Given the description of an element on the screen output the (x, y) to click on. 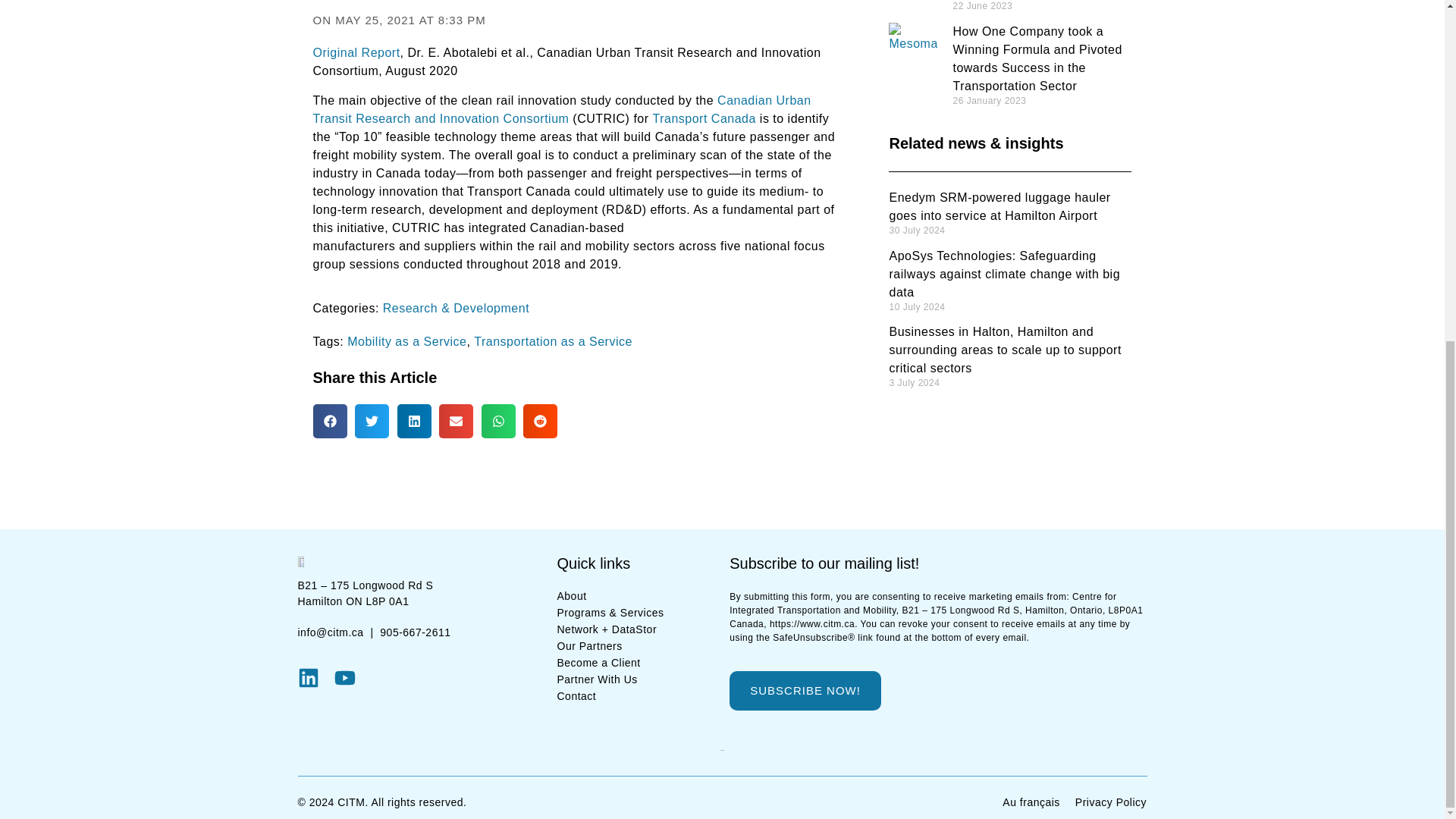
Original Report (355, 51)
Mobility as a Service (406, 341)
Transport Canada (703, 118)
Canadian Urban Transit Research and Innovation Consortium (561, 109)
Transportation as a Service (552, 341)
